Given the description of an element on the screen output the (x, y) to click on. 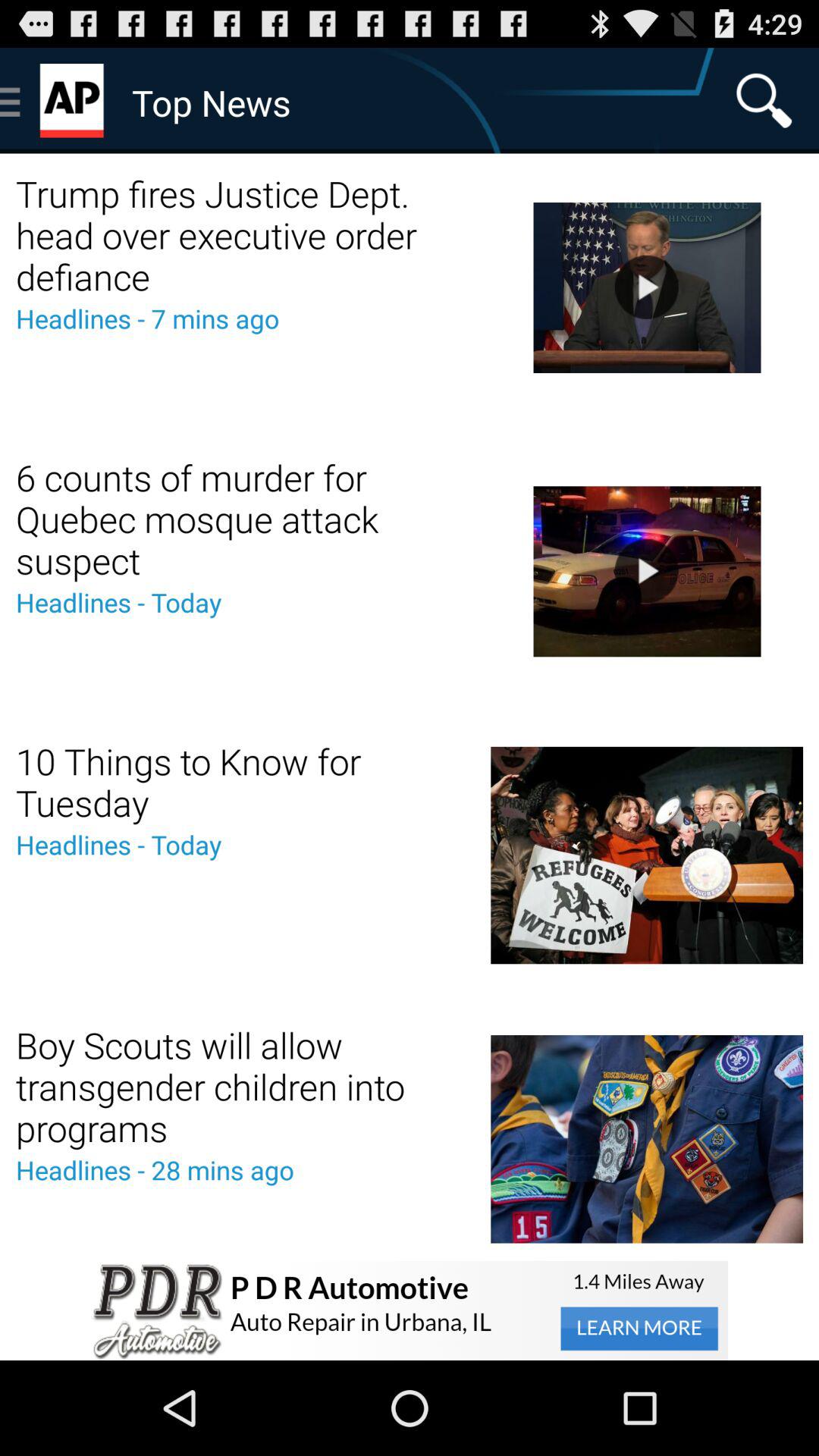
open the icon to the right of the top news icon (764, 100)
